Given the description of an element on the screen output the (x, y) to click on. 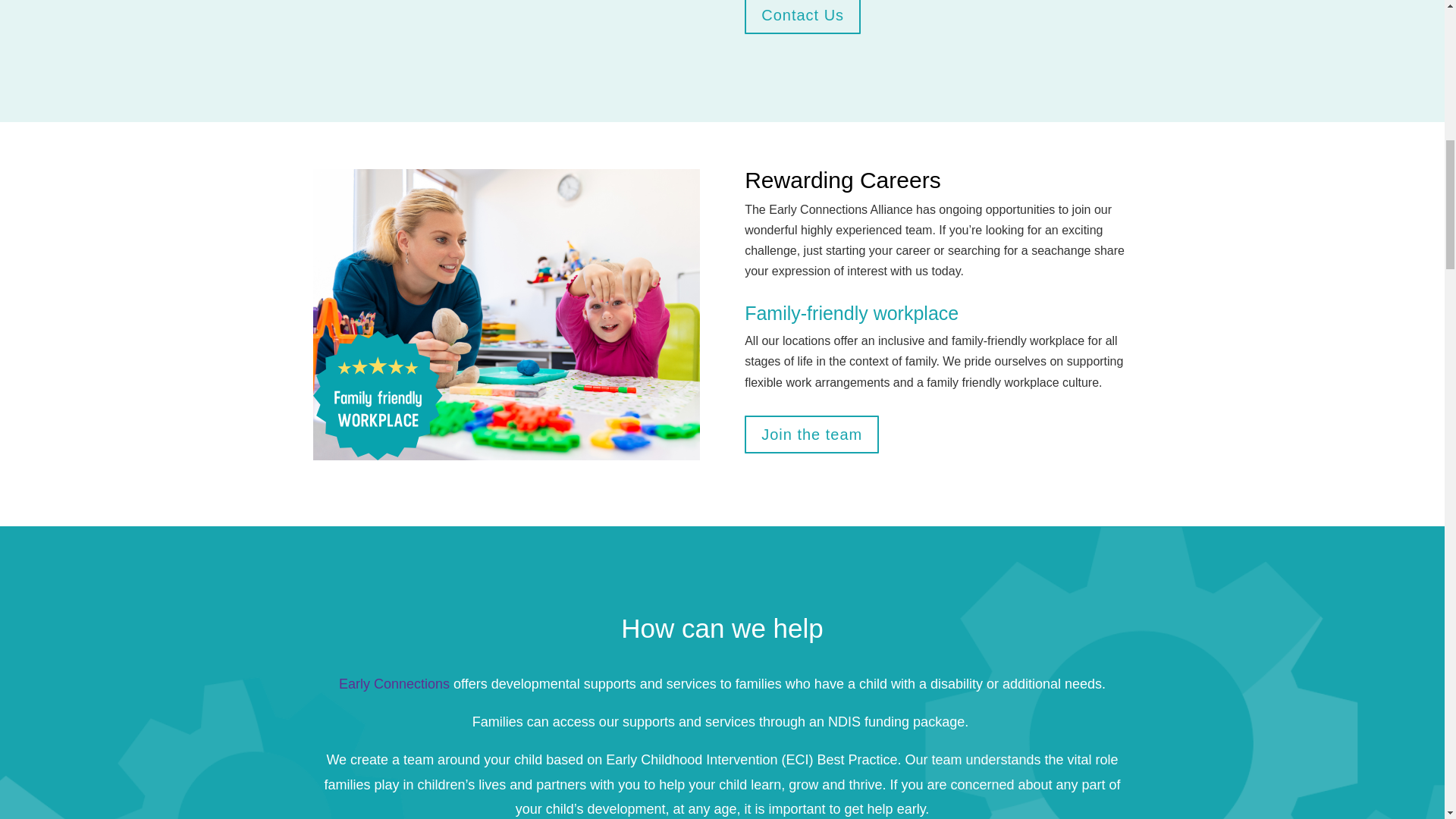
Family Friendly Workplace (505, 314)
Early Connections Alliance - Education Therapy and Support (505, 28)
Join the team (811, 434)
Contact Us (802, 17)
Early Connections (394, 683)
